Given the description of an element on the screen output the (x, y) to click on. 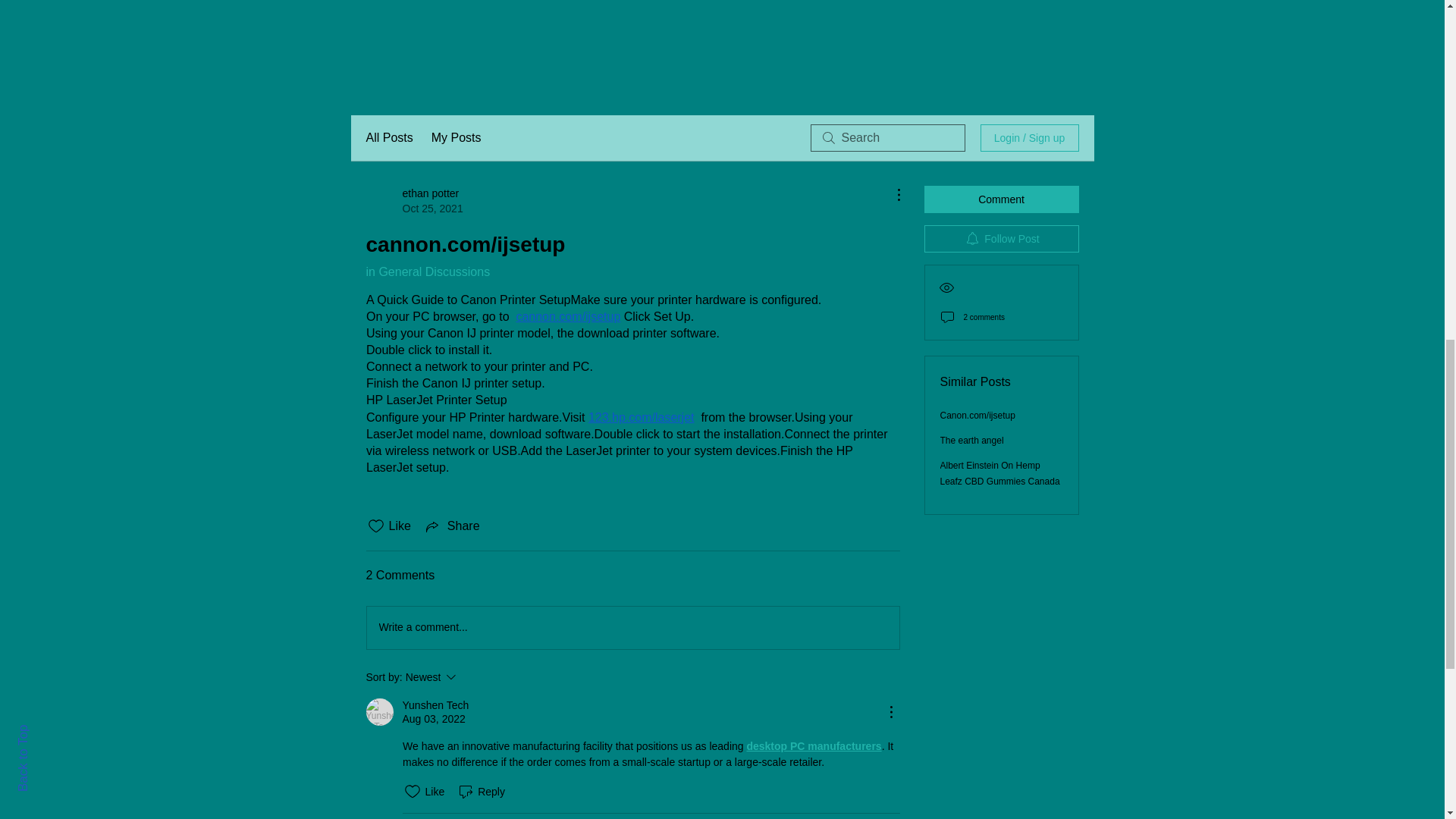
desktop PC manufacturers (812, 746)
Yunshen Tech (434, 705)
in General Discussions (427, 271)
All Posts (414, 200)
Write a comment... (388, 137)
Yunshen Tech (471, 677)
Share (632, 627)
Reply (379, 711)
